Given the description of an element on the screen output the (x, y) to click on. 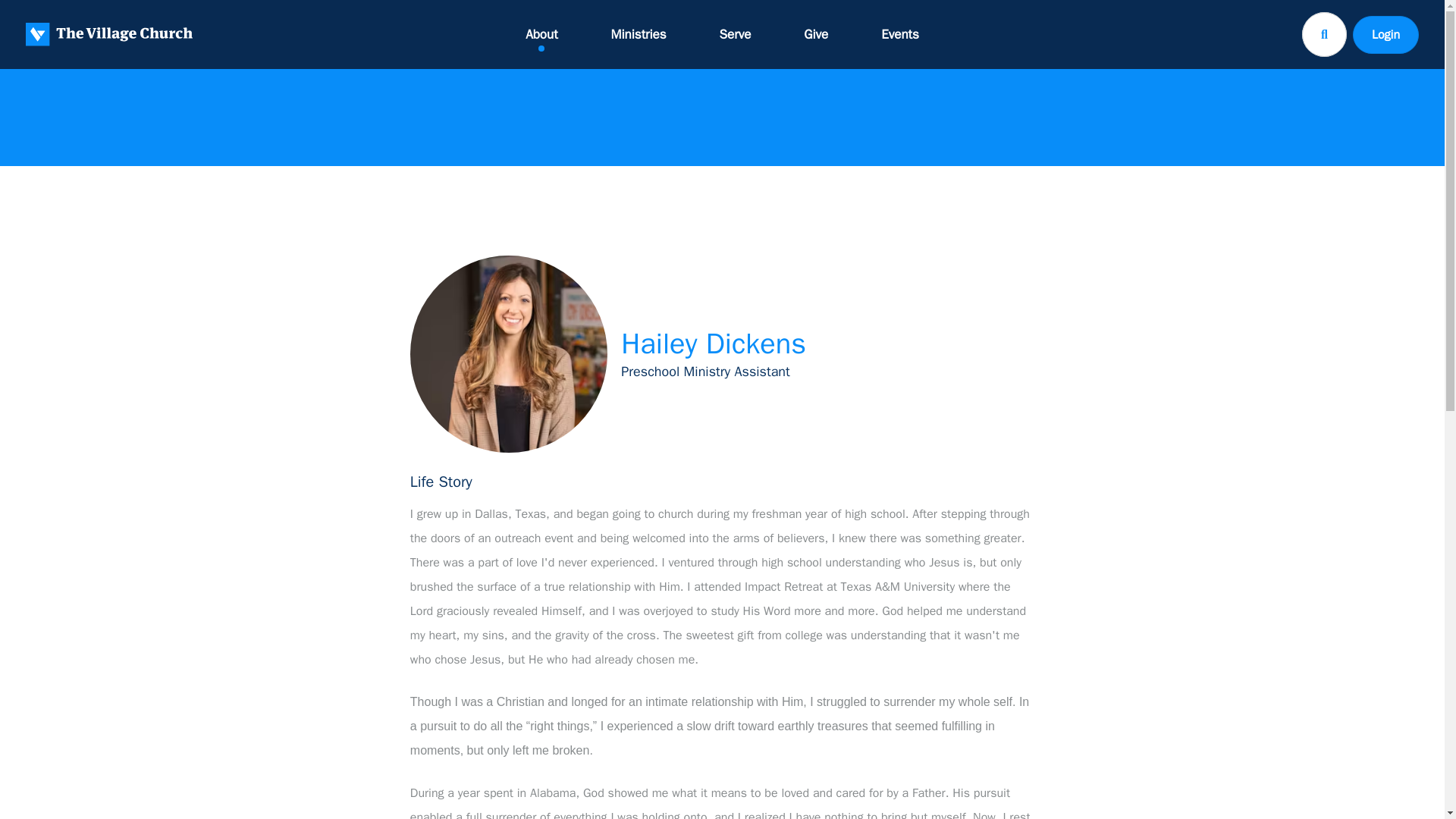
Give (815, 34)
Ministries (638, 34)
Events (899, 34)
Serve (735, 34)
About (541, 34)
Login (1385, 34)
